Given the description of an element on the screen output the (x, y) to click on. 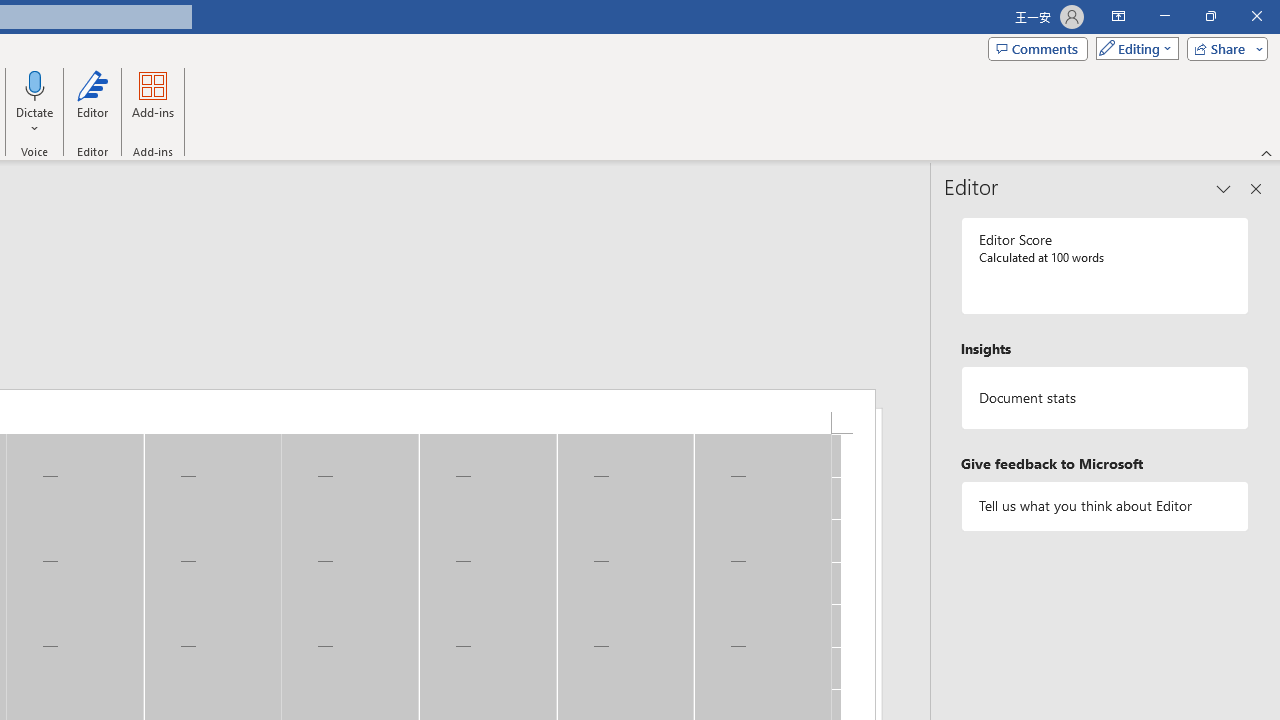
Tell us what you think about Editor (1105, 506)
Document statistics (1105, 398)
